Given the description of an element on the screen output the (x, y) to click on. 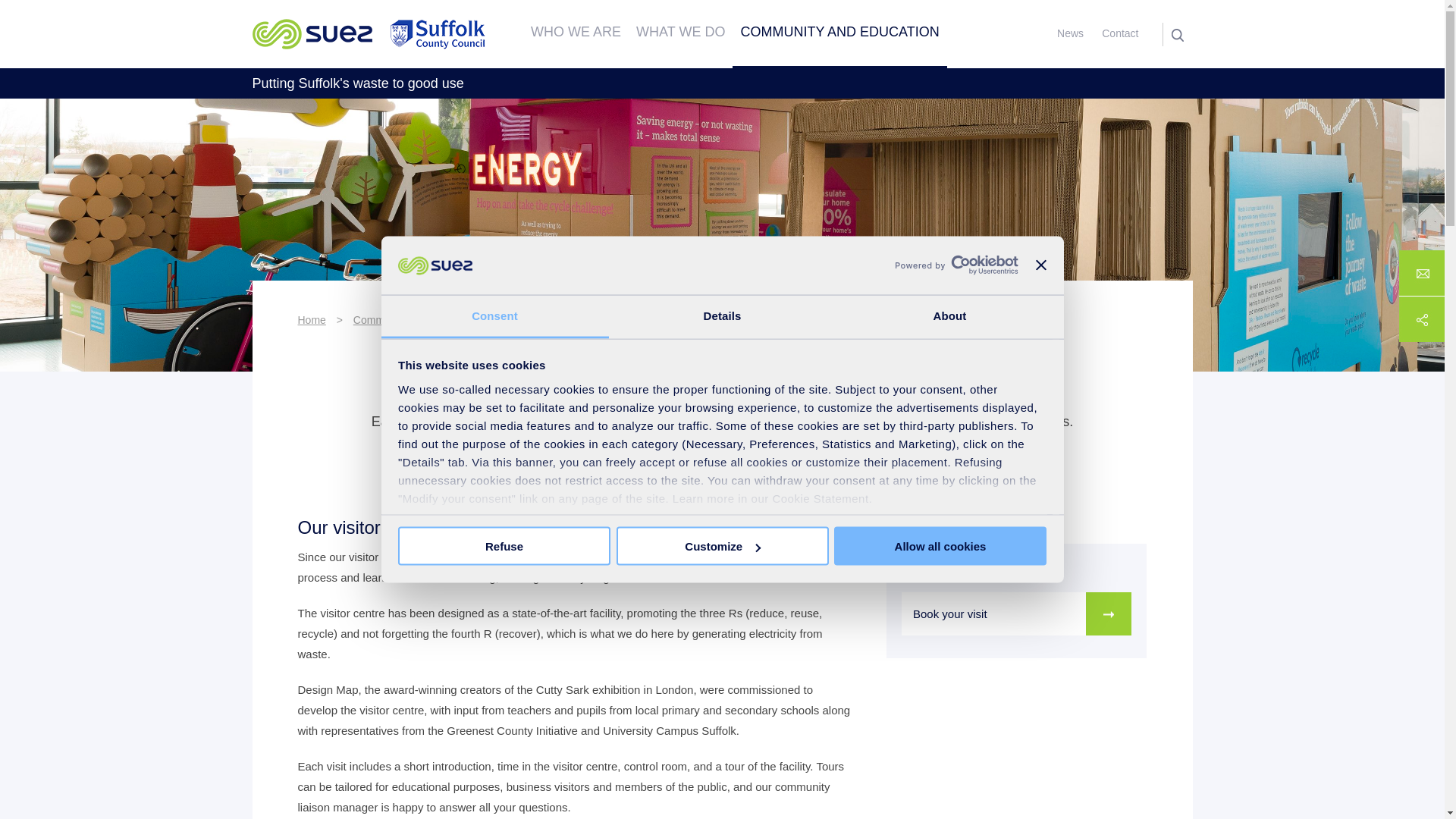
Consent (494, 316)
About (948, 316)
Refuse (503, 546)
Allow all cookies (940, 546)
WHO WE ARE (575, 33)
Customize (721, 546)
Details (721, 316)
